Given the description of an element on the screen output the (x, y) to click on. 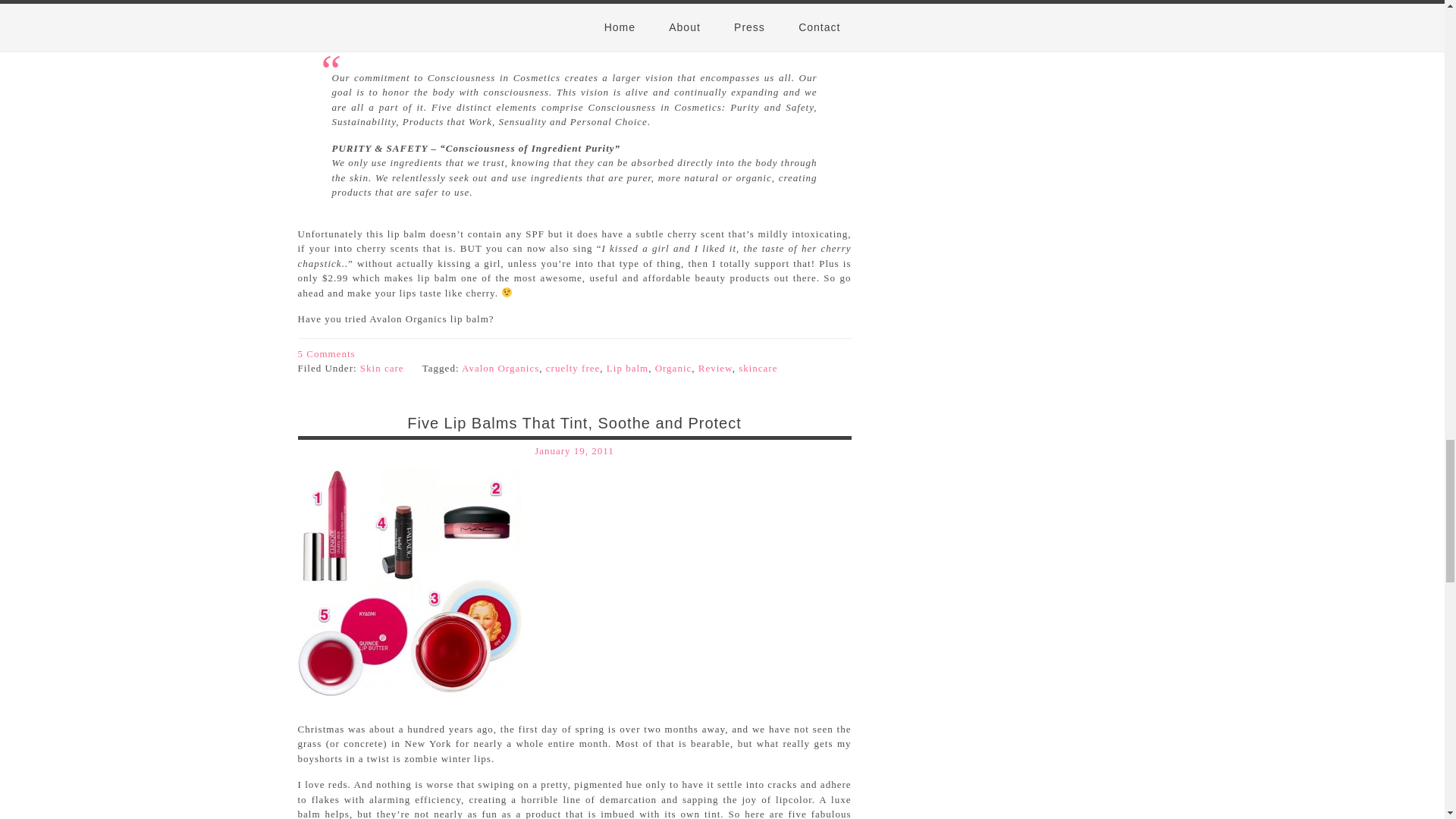
Organic (674, 367)
Five Lip Balms That Tint, Soothe and Protect (574, 422)
Skin care (381, 367)
cruelty free (572, 367)
Avalon Organics (499, 367)
Lip balm (627, 367)
skincare (757, 367)
5 Comments (326, 353)
Review (715, 367)
lip balms (409, 582)
